Given the description of an element on the screen output the (x, y) to click on. 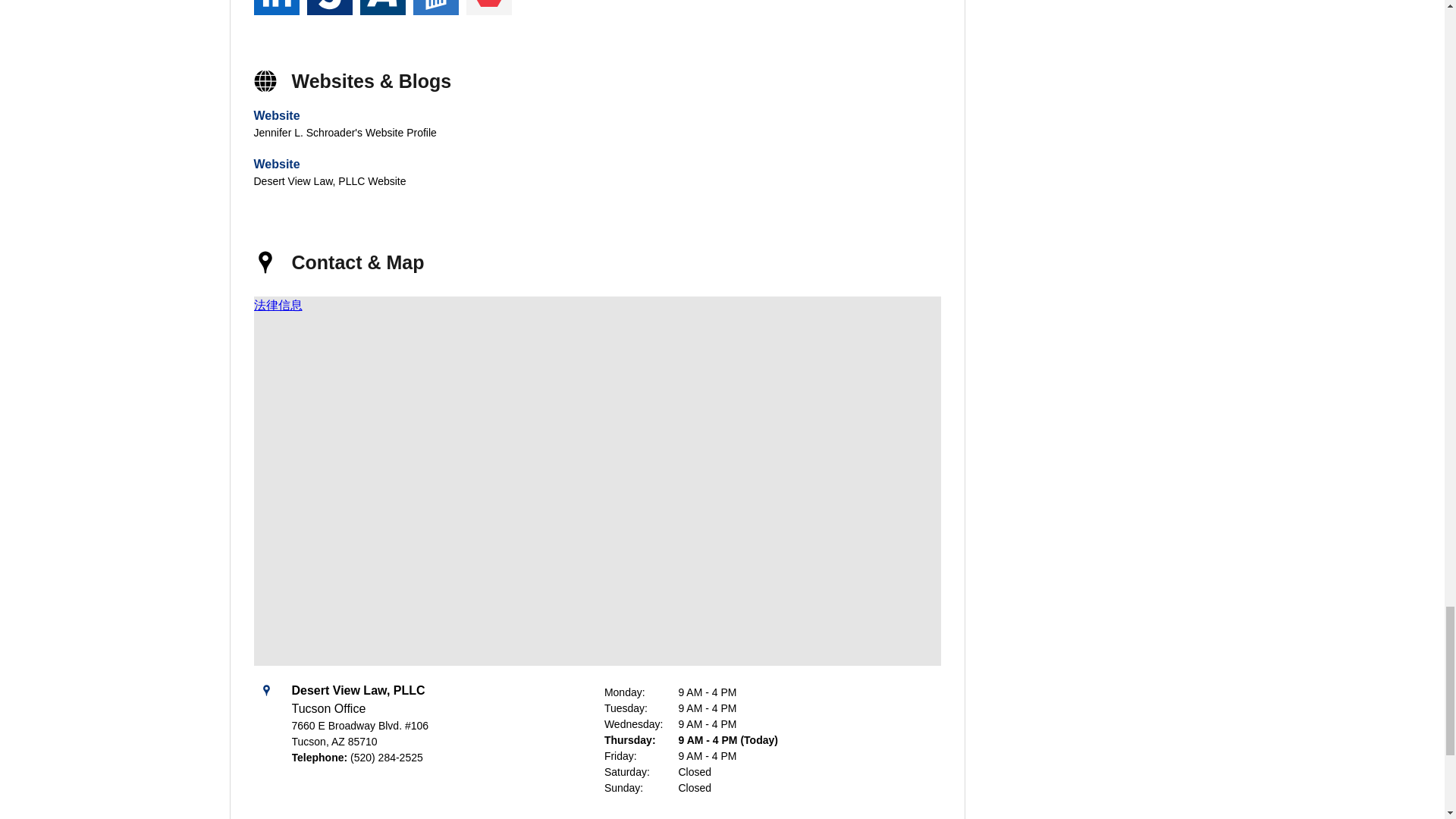
LinkedIn (275, 7)
Jennifer L. Schroader's Avvo Profile (381, 7)
Jennifer L. Schroader's Martindale Profile (488, 7)
Jennifer L. Schroader's Lawyers.com Profile (435, 7)
Jennifer L. Schroader on LinkedIn (275, 7)
Jennifer L. Schroader's Lawyers.com Profile (435, 7)
Justia Profile (328, 7)
 Justia Profile (328, 7)
Jennifer L. Schroader's Martindale Profile (488, 7)
Website (276, 115)
Jennifer L. Schroader's Avvo Profile (381, 7)
